Given the description of an element on the screen output the (x, y) to click on. 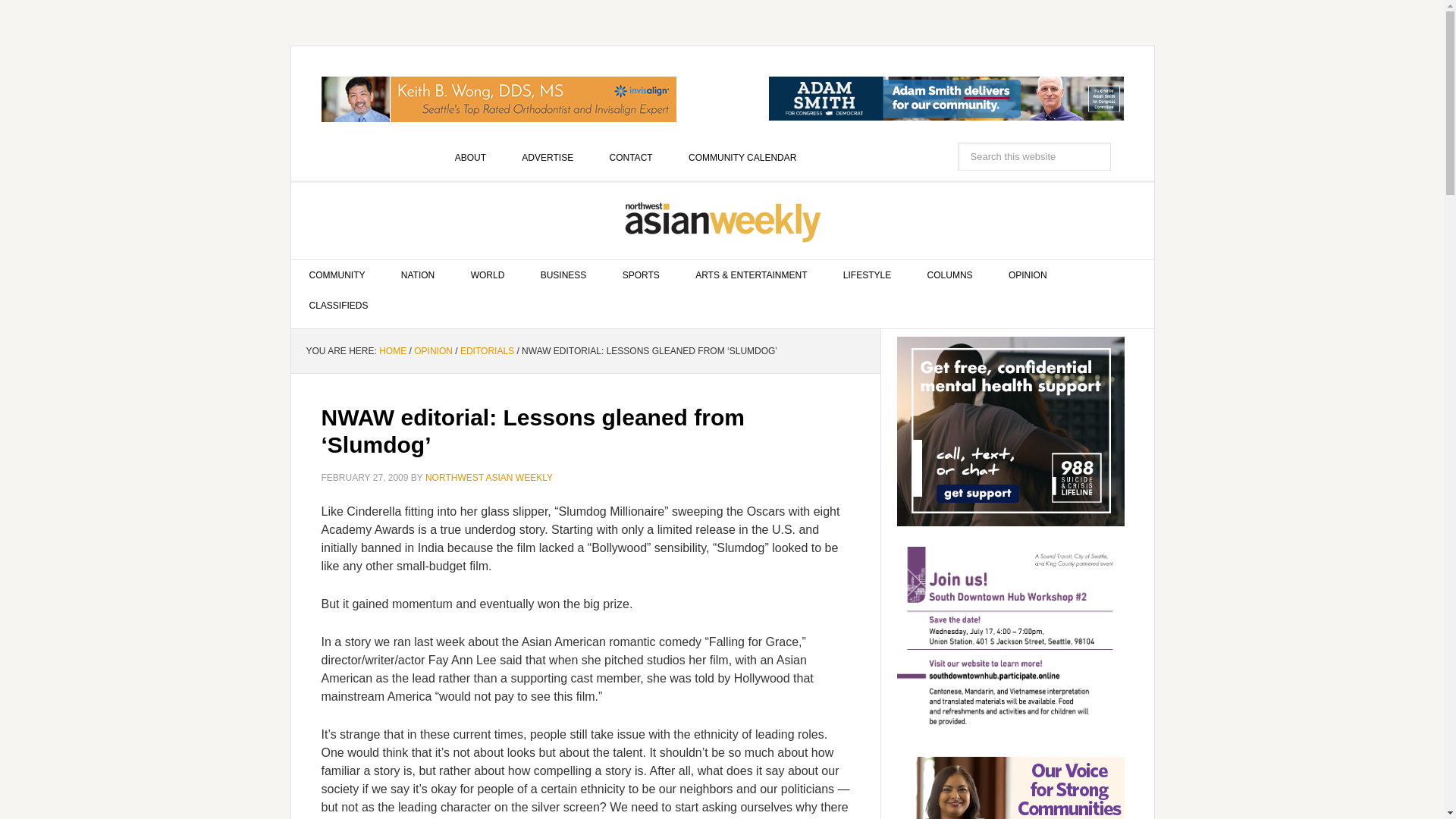
COMMUNITY (337, 275)
ABOUT (469, 157)
OPINION (432, 350)
OPINION (1027, 275)
NORTHWEST ASIAN WEEKLY (722, 221)
WORLD (487, 275)
NATION (417, 275)
COLUMNS (949, 275)
ADVERTISE (547, 157)
NORTHWEST ASIAN WEEKLY (489, 477)
EDITORIALS (486, 350)
CONTACT (631, 157)
